Given the description of an element on the screen output the (x, y) to click on. 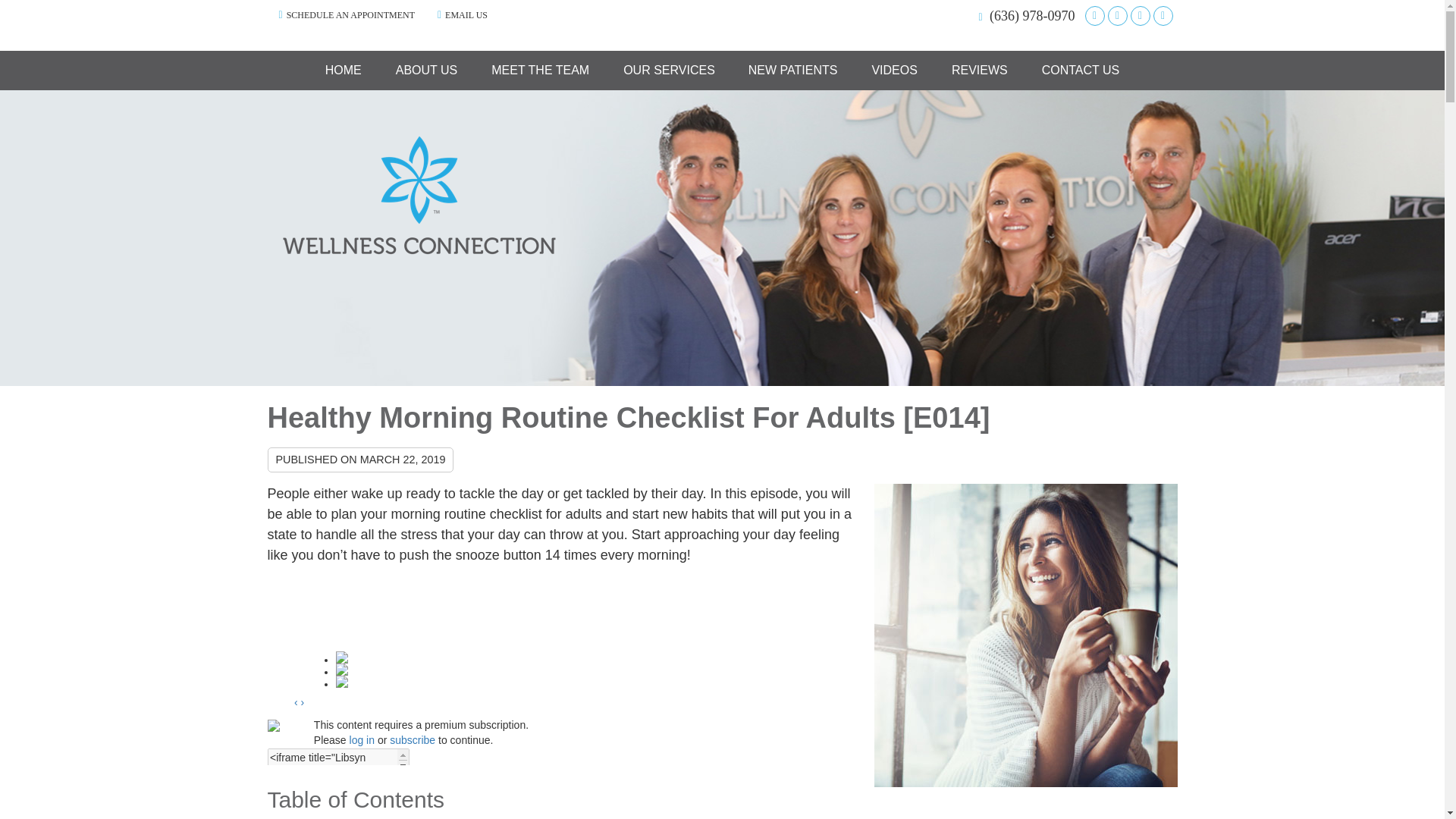
Google Social Button (1093, 14)
Instagram Social Button (1138, 14)
Youtube Social Button (1161, 14)
ABOUT US (427, 70)
EMAIL US (462, 14)
Welcome to The Wellness Connection (418, 249)
MEET THE TEAM (540, 70)
SCHEDULE AN APPOINTMENT (346, 14)
Contact (462, 14)
HOME (343, 70)
